Given the description of an element on the screen output the (x, y) to click on. 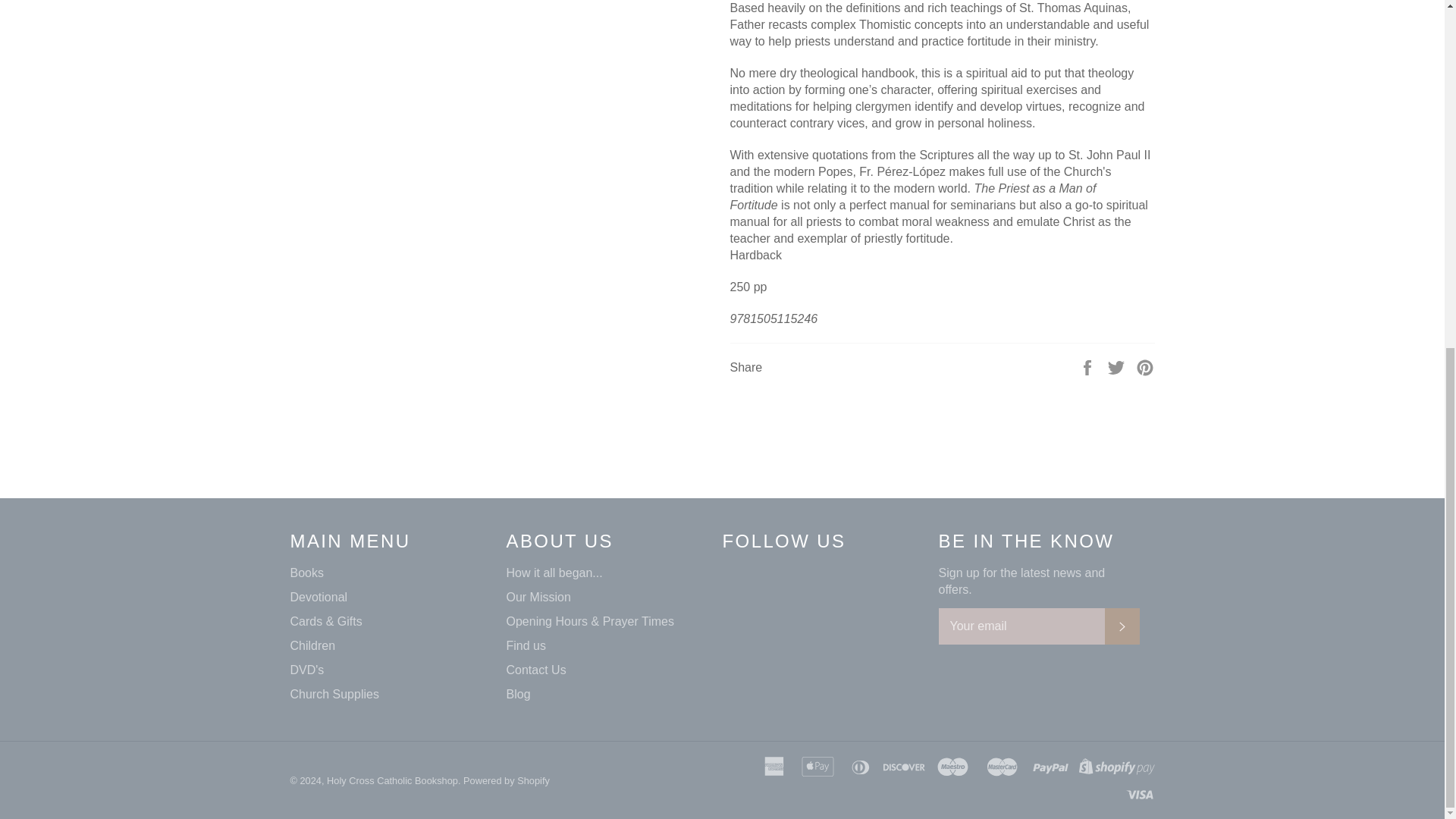
Tweet on Twitter (1117, 367)
Pin on Pinterest (1144, 367)
Share on Facebook (1088, 367)
